Given the description of an element on the screen output the (x, y) to click on. 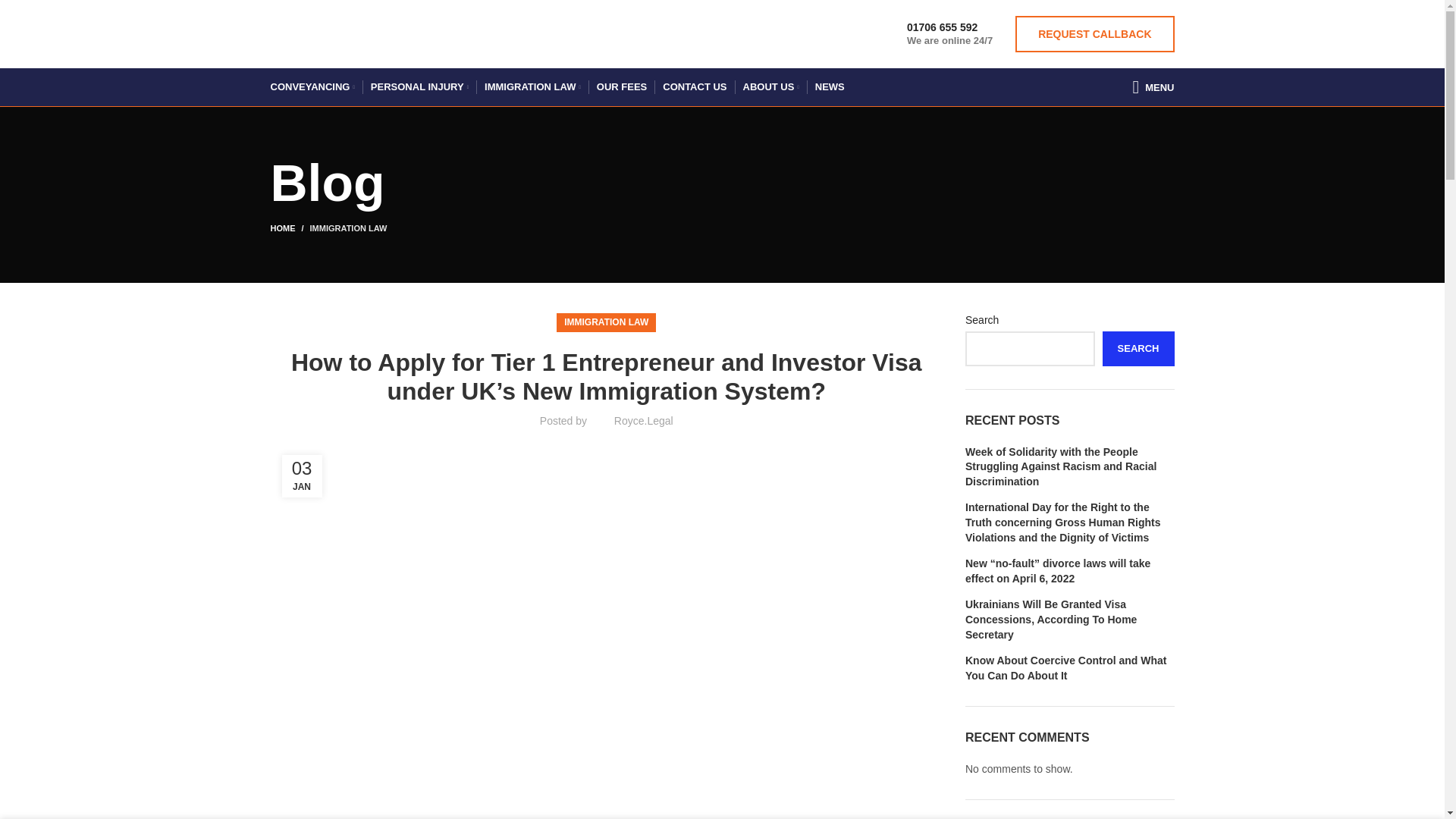
CONVEYANCING (311, 87)
ABOUT US (770, 87)
OUR FEES (621, 87)
REQUEST CALLBACK (1093, 33)
PERSONAL INJURY (419, 87)
IMMIGRATION LAW (532, 87)
CONTACT US (694, 87)
